Given the description of an element on the screen output the (x, y) to click on. 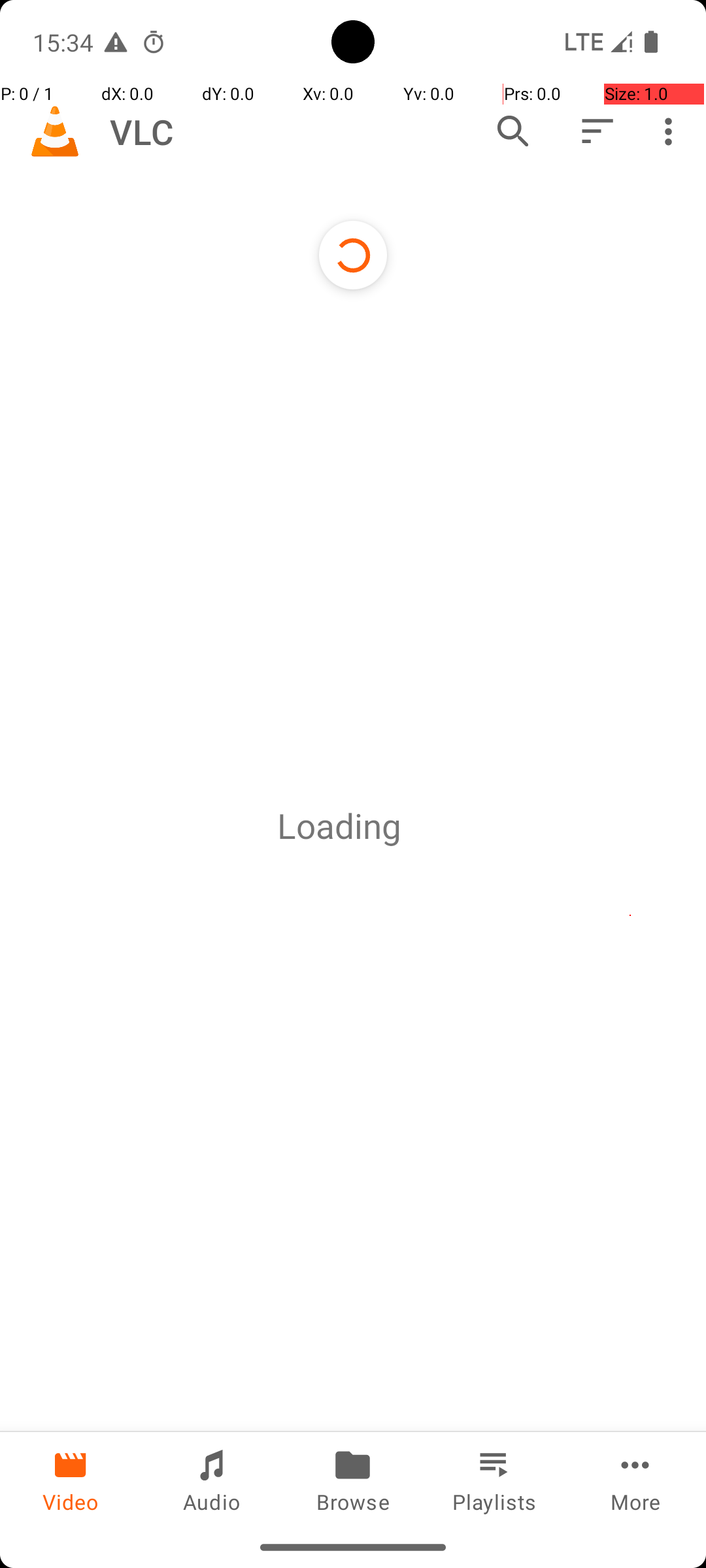
... Element type: android.widget.TextView (414, 825)
